Given the description of an element on the screen output the (x, y) to click on. 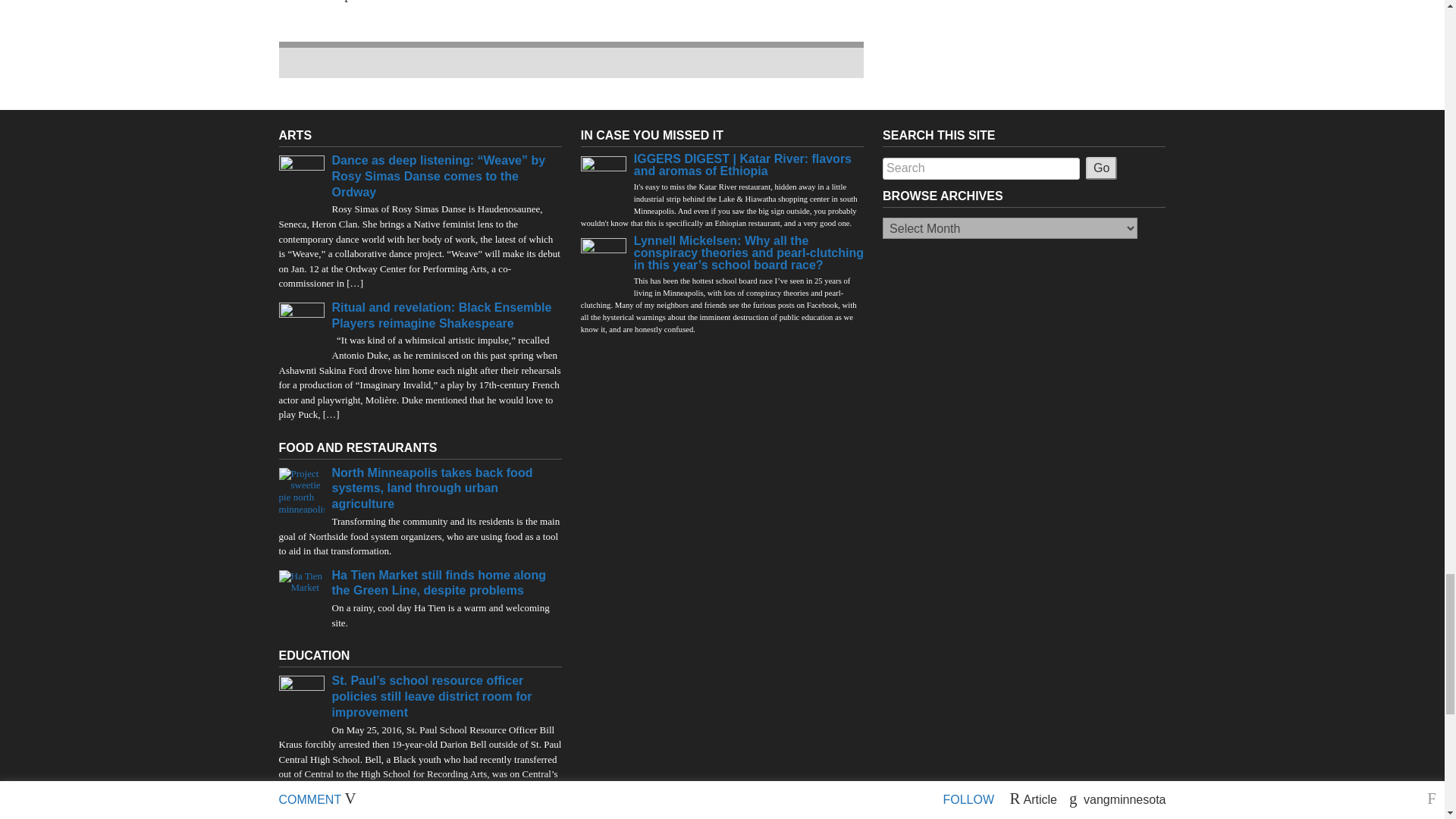
Go (1101, 168)
Go (1101, 168)
